Given the description of an element on the screen output the (x, y) to click on. 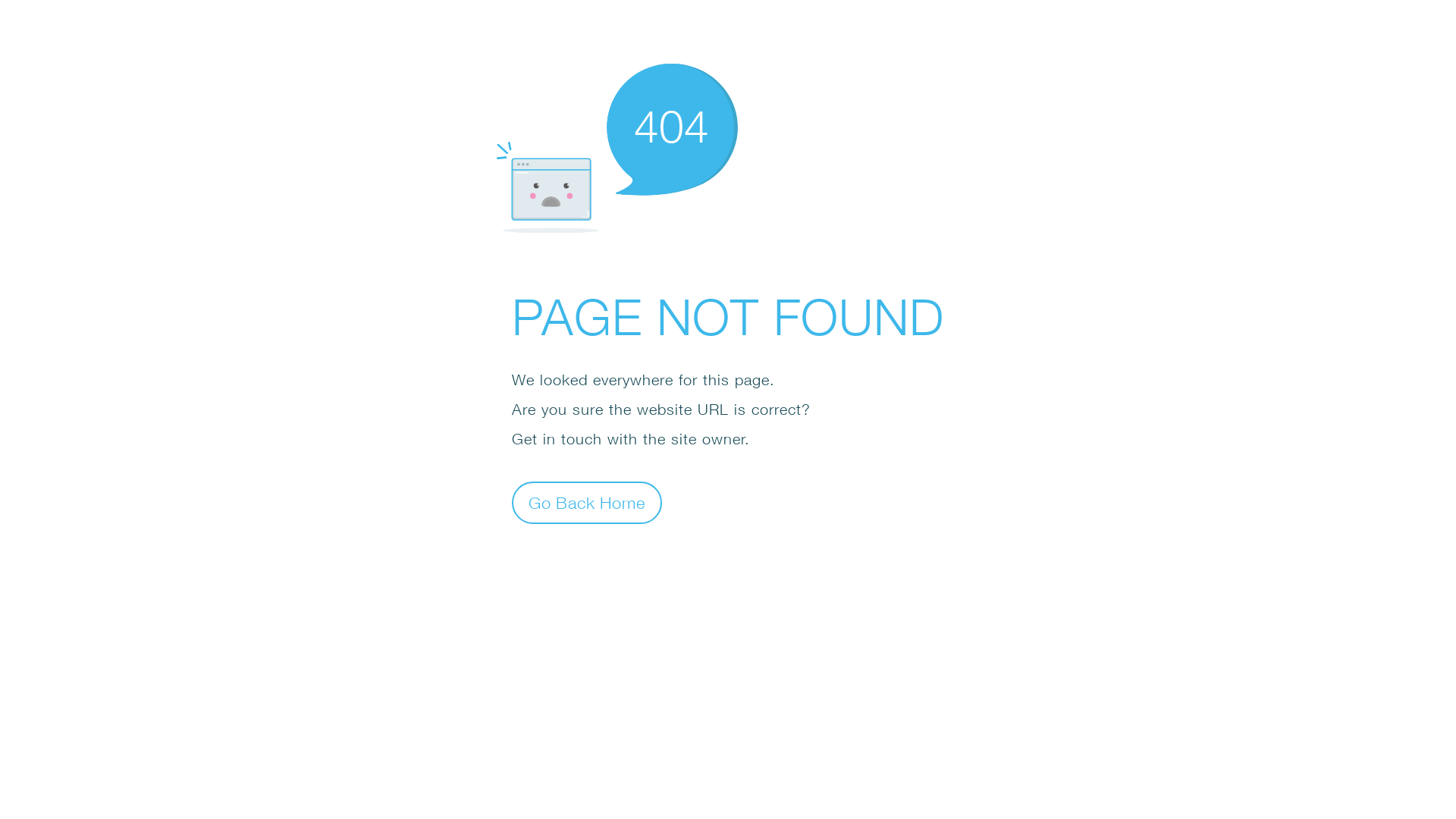
Go Back Home Element type: text (586, 502)
